Given the description of an element on the screen output the (x, y) to click on. 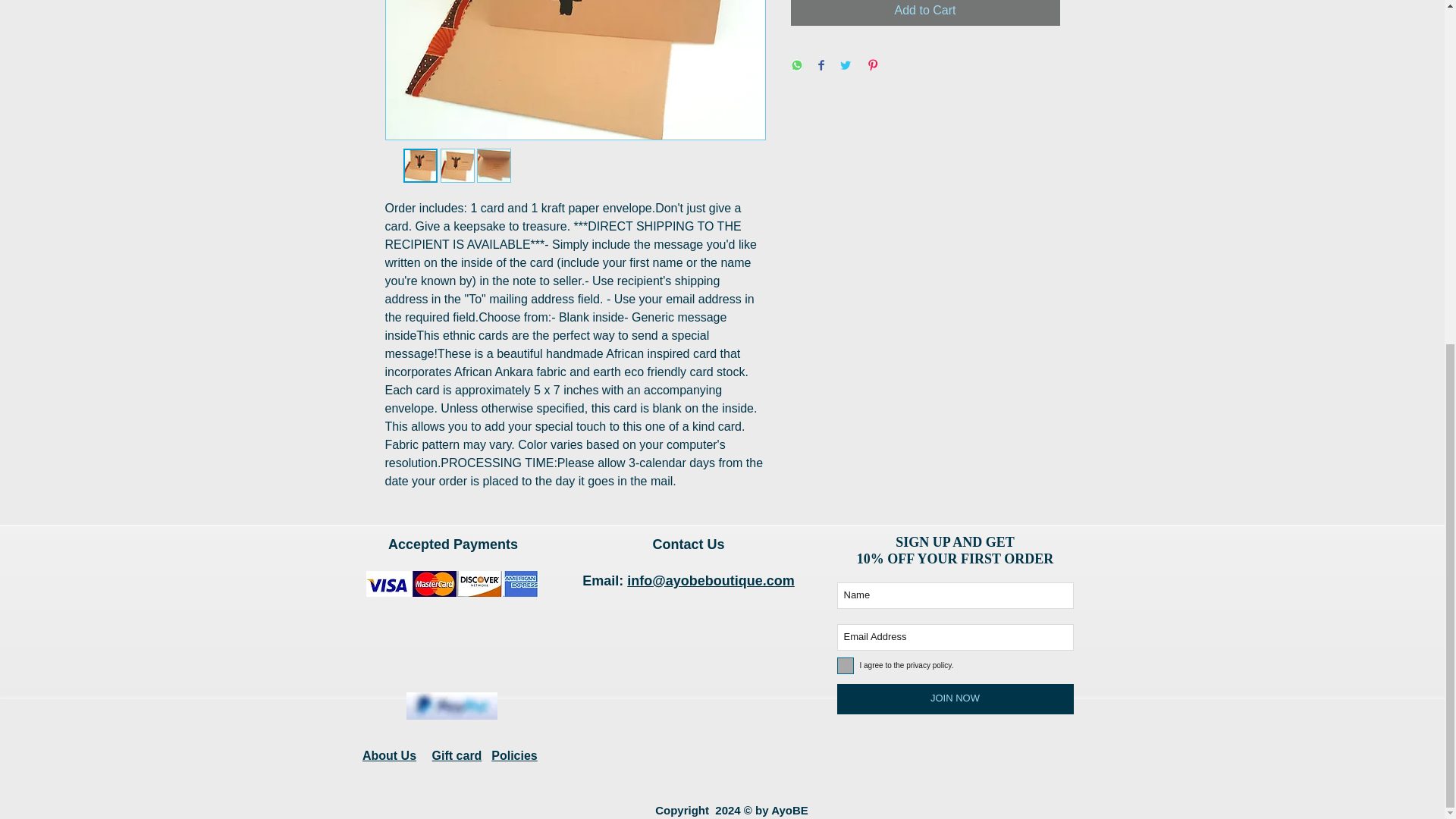
Policies (514, 755)
Gift card (456, 755)
About Us (389, 755)
JOIN NOW (955, 698)
Add to Cart (924, 12)
